Given the description of an element on the screen output the (x, y) to click on. 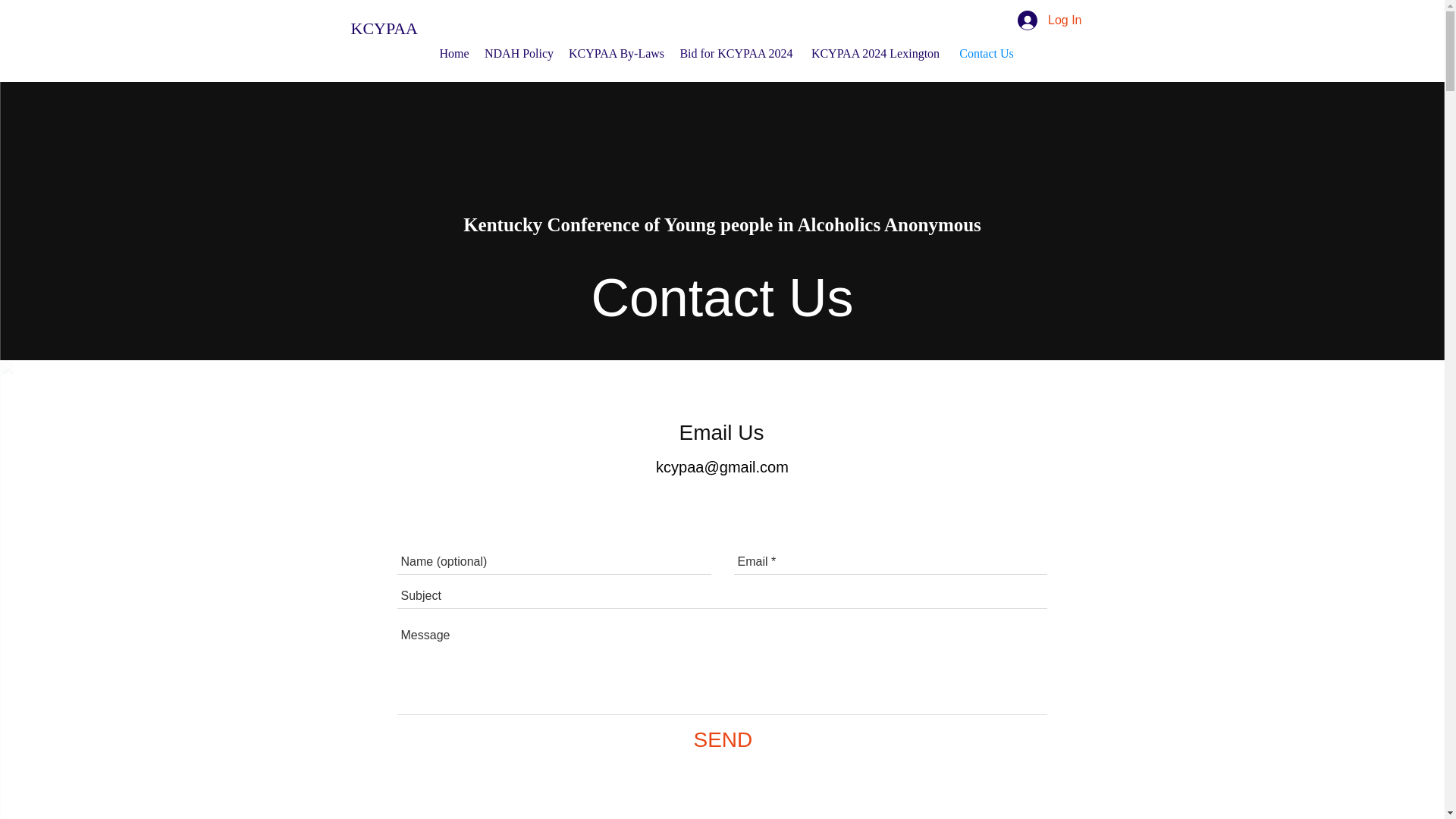
Bid for KCYPAA 2024 (736, 53)
KCYPAA (383, 27)
Home (453, 53)
KCYPAA By-Laws (615, 53)
Log In (1049, 20)
KCYPAA 2024 Lexington (875, 53)
NDAH Policy (518, 53)
SEND (722, 739)
Contact Us (986, 53)
